Given the description of an element on the screen output the (x, y) to click on. 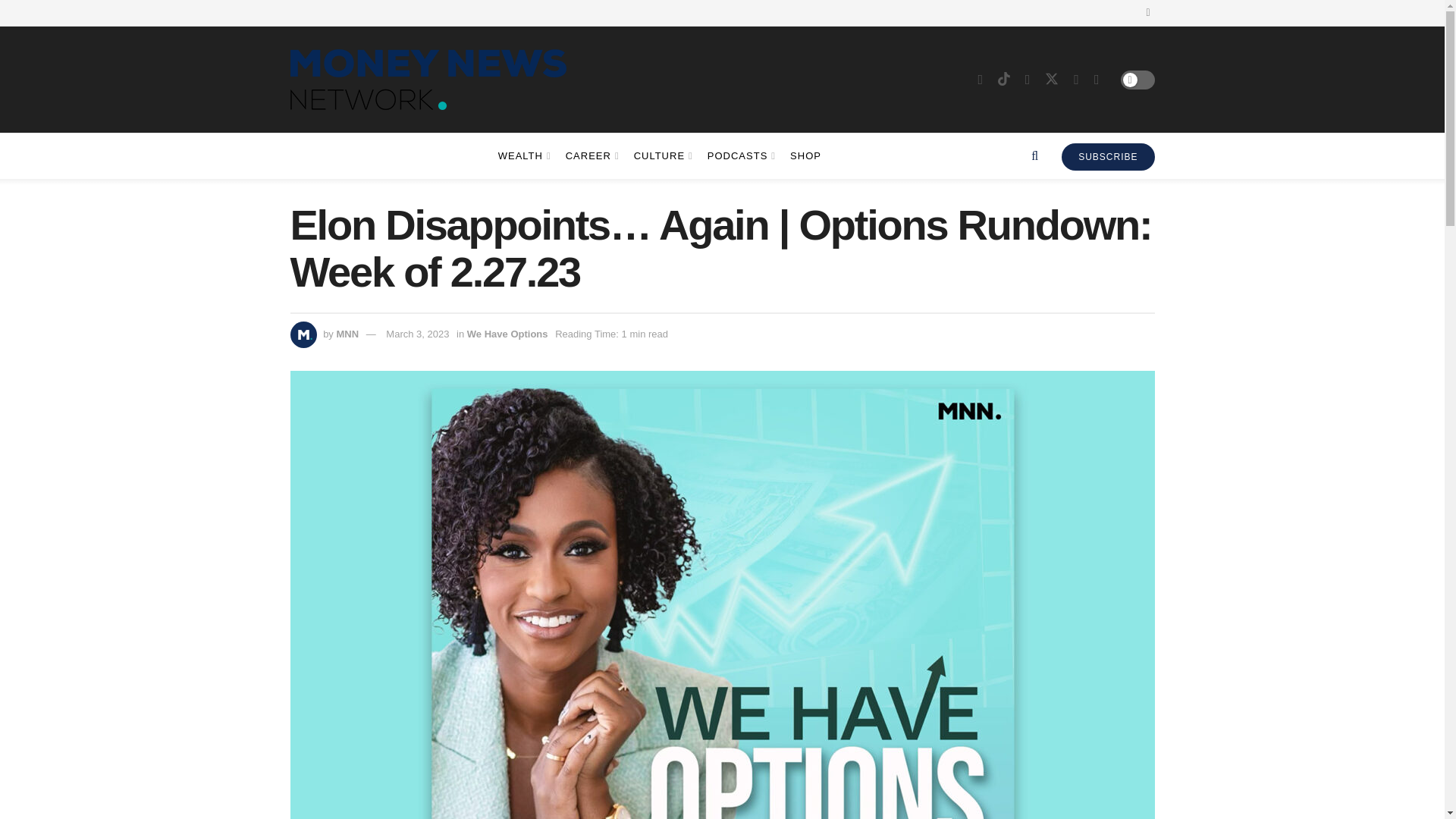
CULTURE (661, 156)
PODCASTS (740, 156)
WEALTH (522, 156)
CAREER (591, 156)
